Given the description of an element on the screen output the (x, y) to click on. 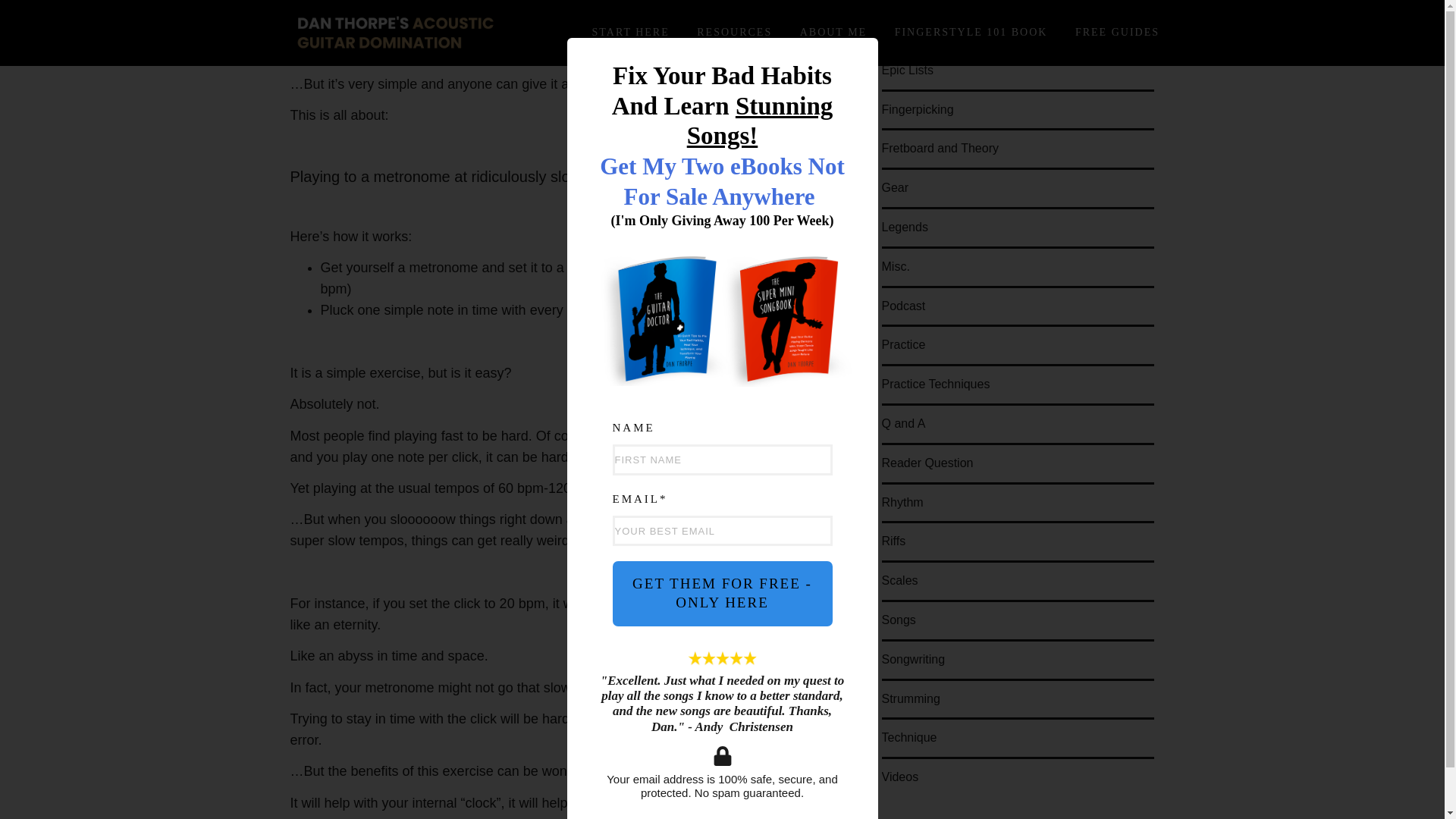
Blues (895, 5)
